Given the description of an element on the screen output the (x, y) to click on. 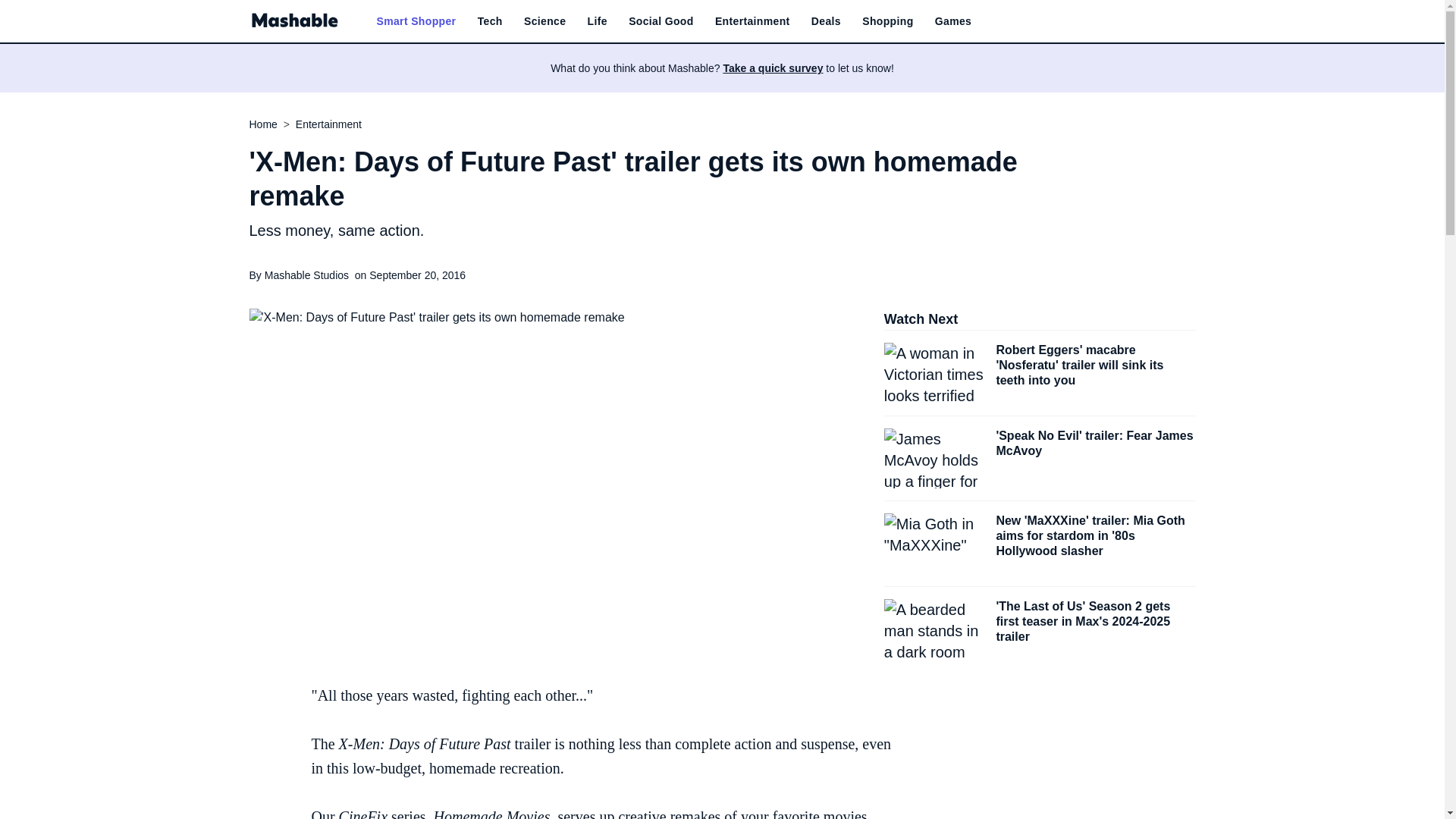
Games (952, 21)
Smart Shopper (415, 21)
Deals (825, 21)
Tech (489, 21)
Shopping (886, 21)
Entertainment (752, 21)
Life (597, 21)
Science (545, 21)
Social Good (661, 21)
